Given the description of an element on the screen output the (x, y) to click on. 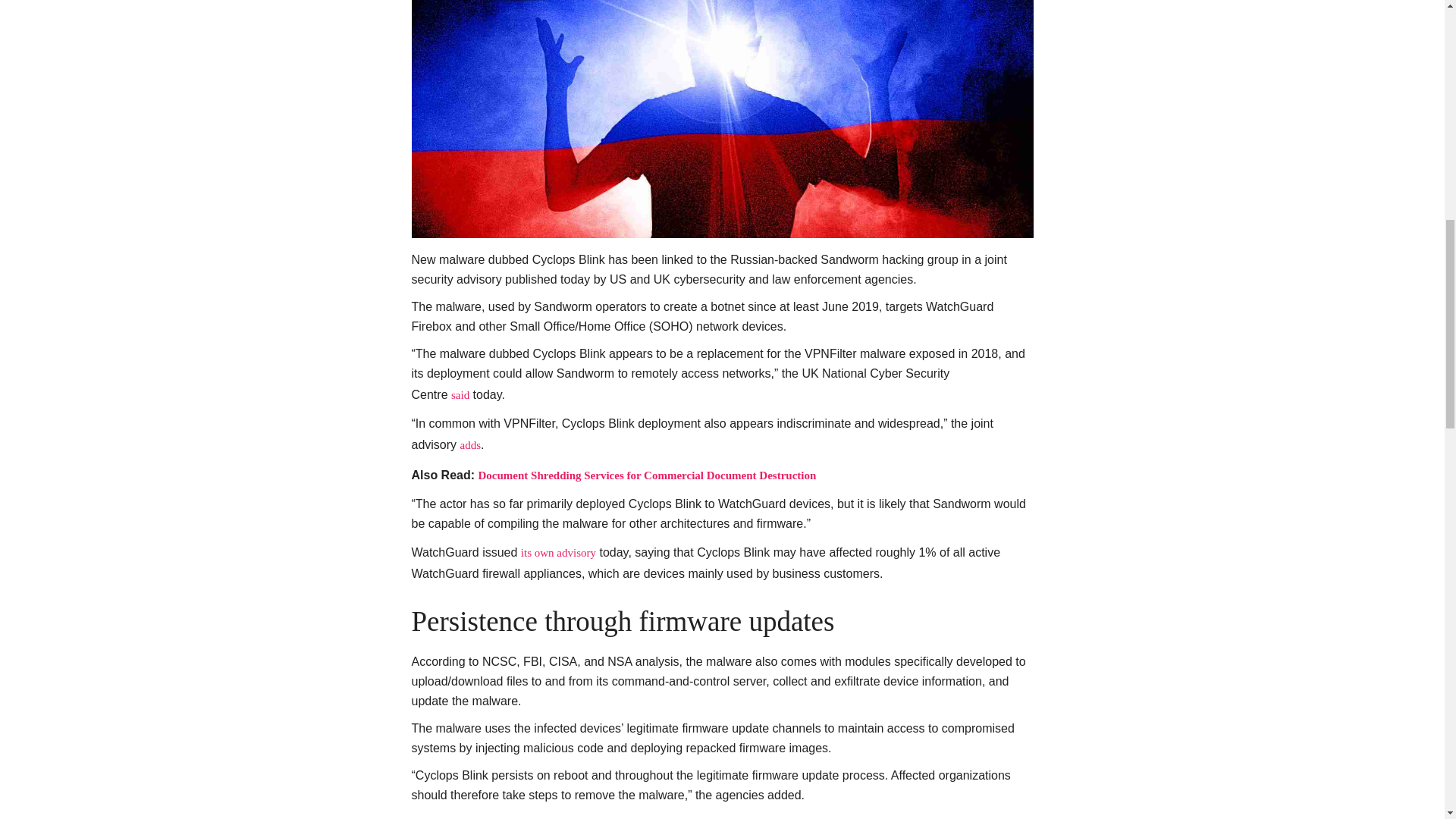
its own advisory (558, 552)
said (459, 395)
adds (470, 444)
